Given the description of an element on the screen output the (x, y) to click on. 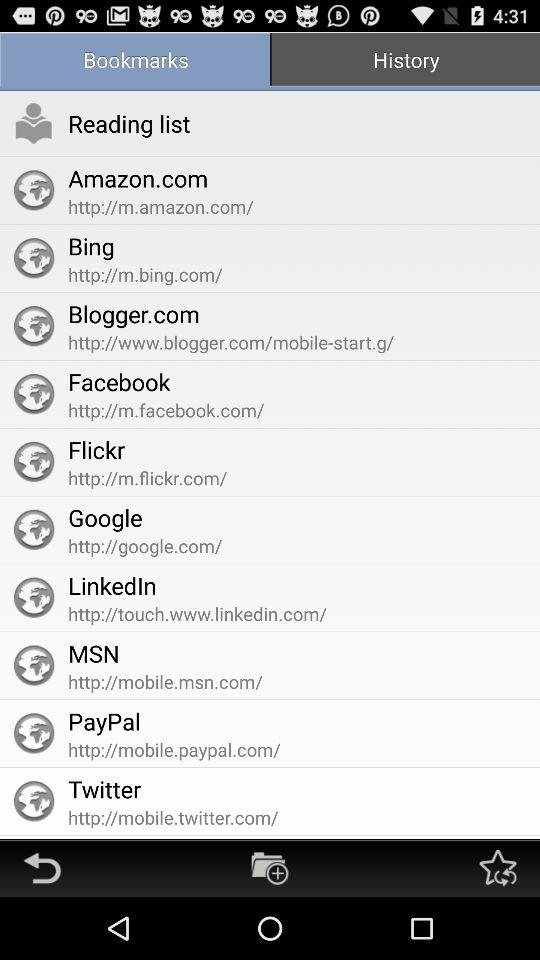
add a folder (269, 868)
